Given the description of an element on the screen output the (x, y) to click on. 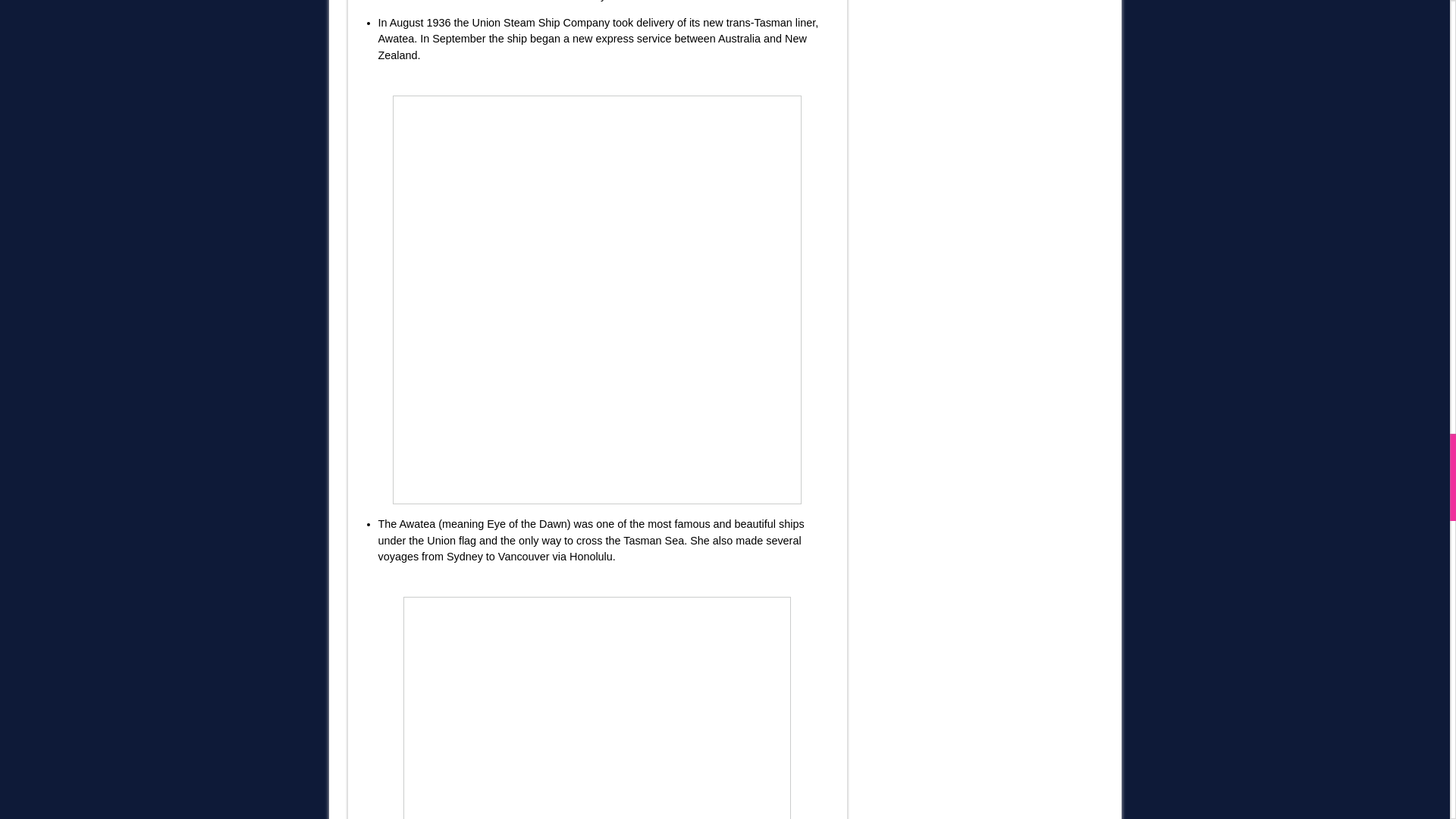
usss02.jpg (596, 708)
